Given the description of an element on the screen output the (x, y) to click on. 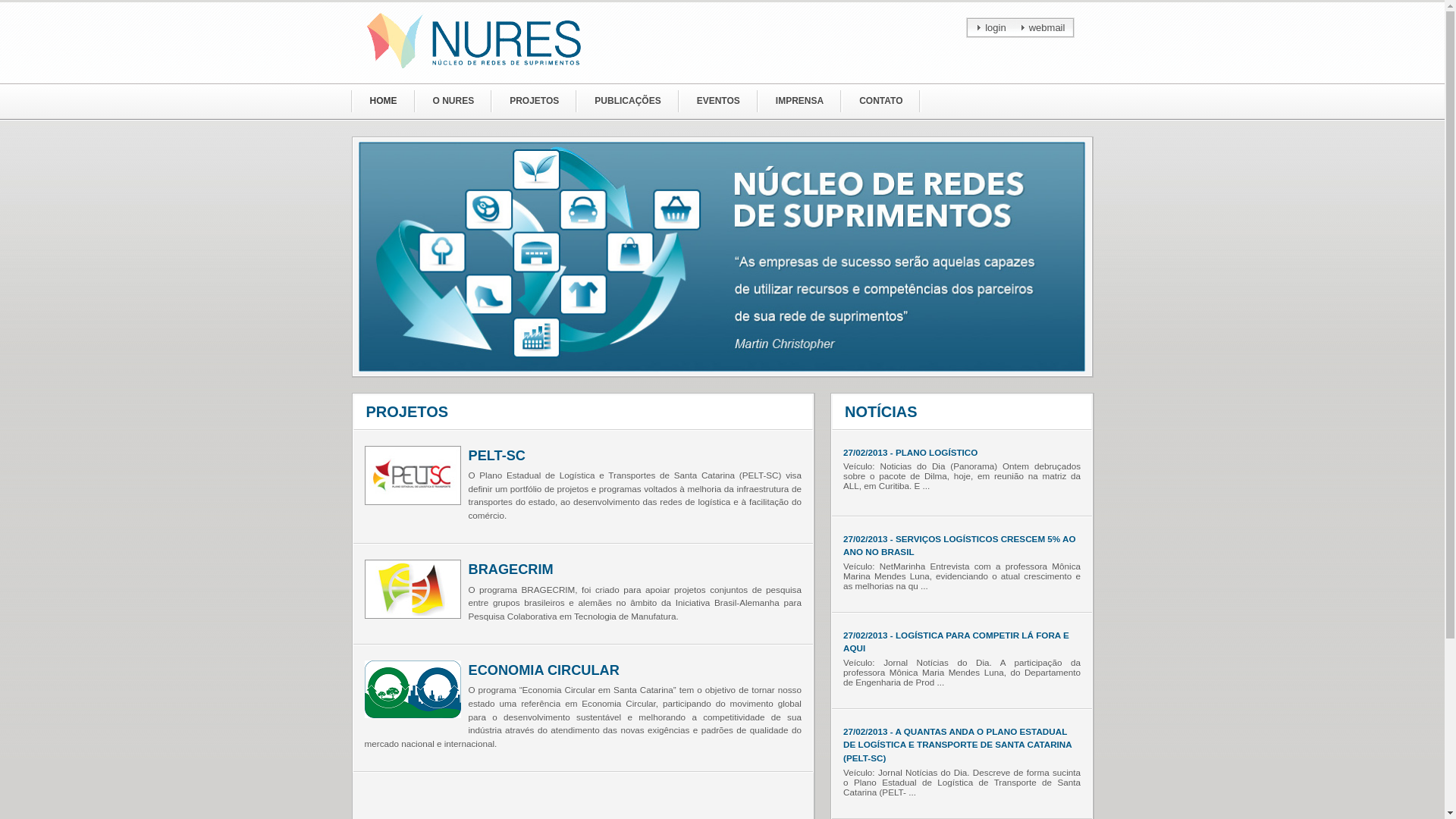
CONTATO Element type: text (880, 101)
PROJETOS Element type: text (534, 101)
Home Element type: hover (721, 256)
login Element type: text (987, 25)
PROJETOS Element type: text (582, 411)
O NURES Element type: text (453, 101)
webmail Element type: text (1039, 25)
logo_peltsc Element type: hover (412, 475)
EVENTOS Element type: text (718, 101)
IMPRENSA Element type: text (799, 101)
logo correct Element type: hover (412, 689)
logo_bragecrim Element type: hover (412, 588)
HOME Element type: text (382, 101)
